Given the description of an element on the screen output the (x, y) to click on. 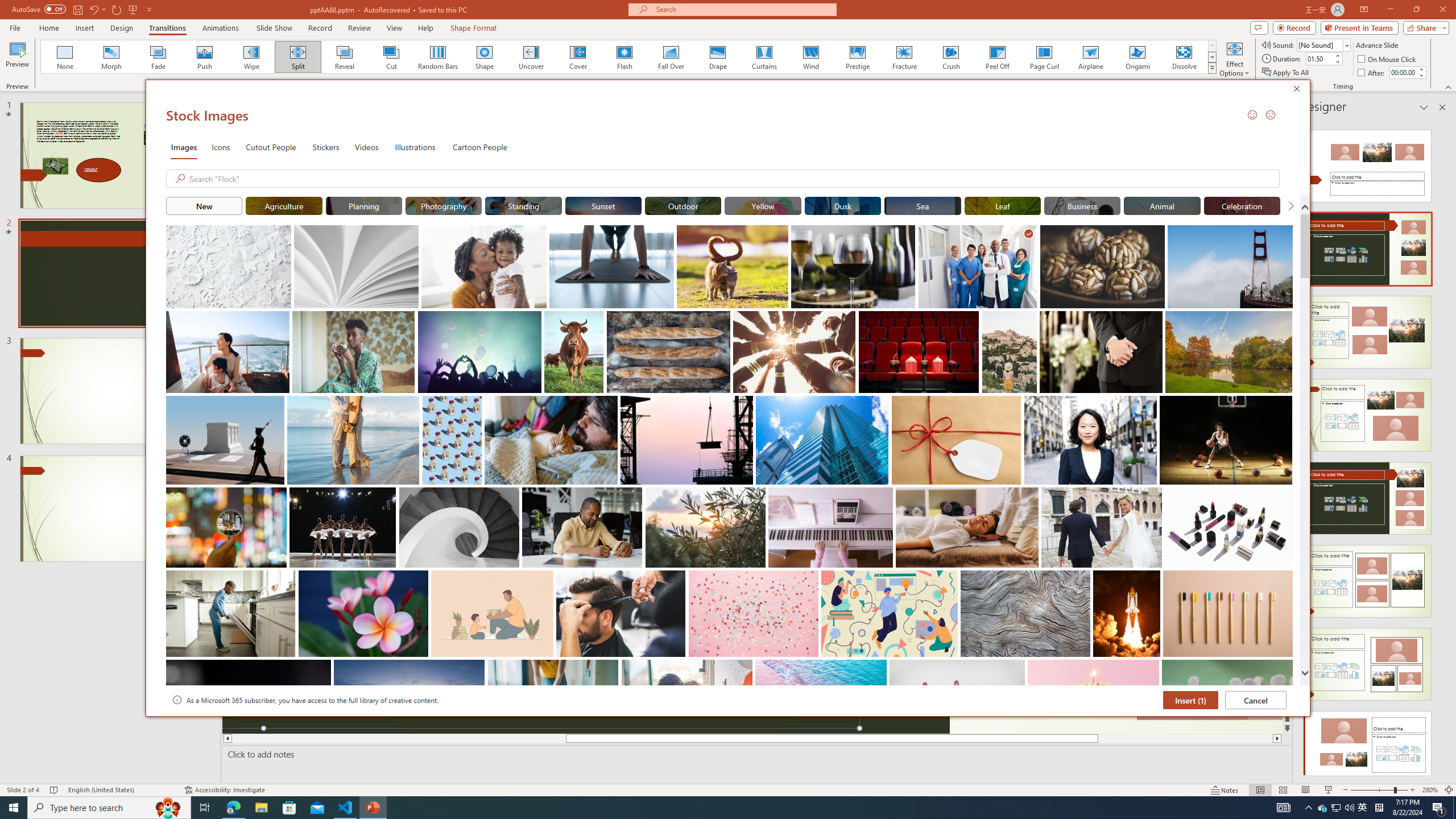
PowerPoint - 1 running window (373, 807)
Insert (83, 28)
On Mouse Click (1387, 58)
Search "Flock" (731, 178)
Cancel (1255, 700)
Fade (1362, 807)
Row Down (158, 56)
Class: NetUIImage (1212, 56)
More Options (1211, 68)
